Given the description of an element on the screen output the (x, y) to click on. 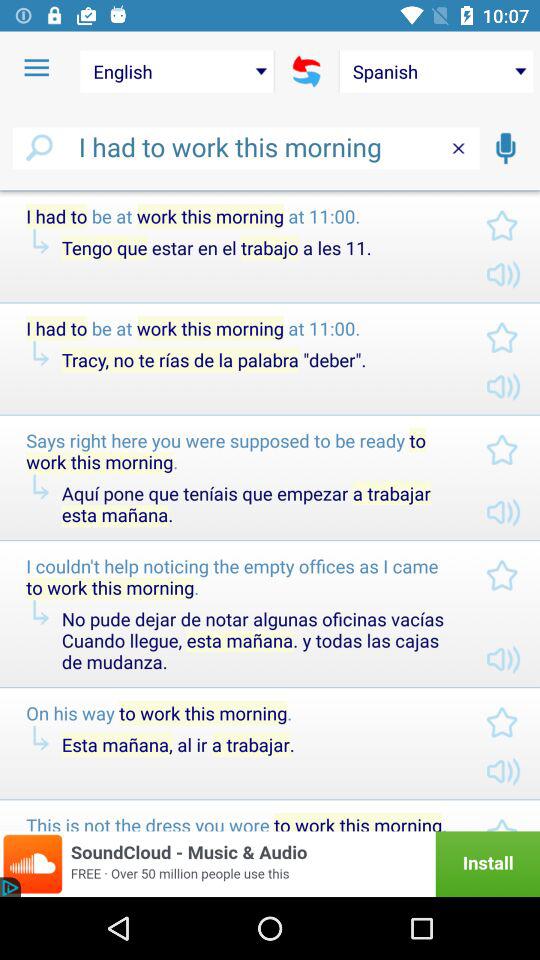
choose the icon next to spanish icon (306, 71)
